Given the description of an element on the screen output the (x, y) to click on. 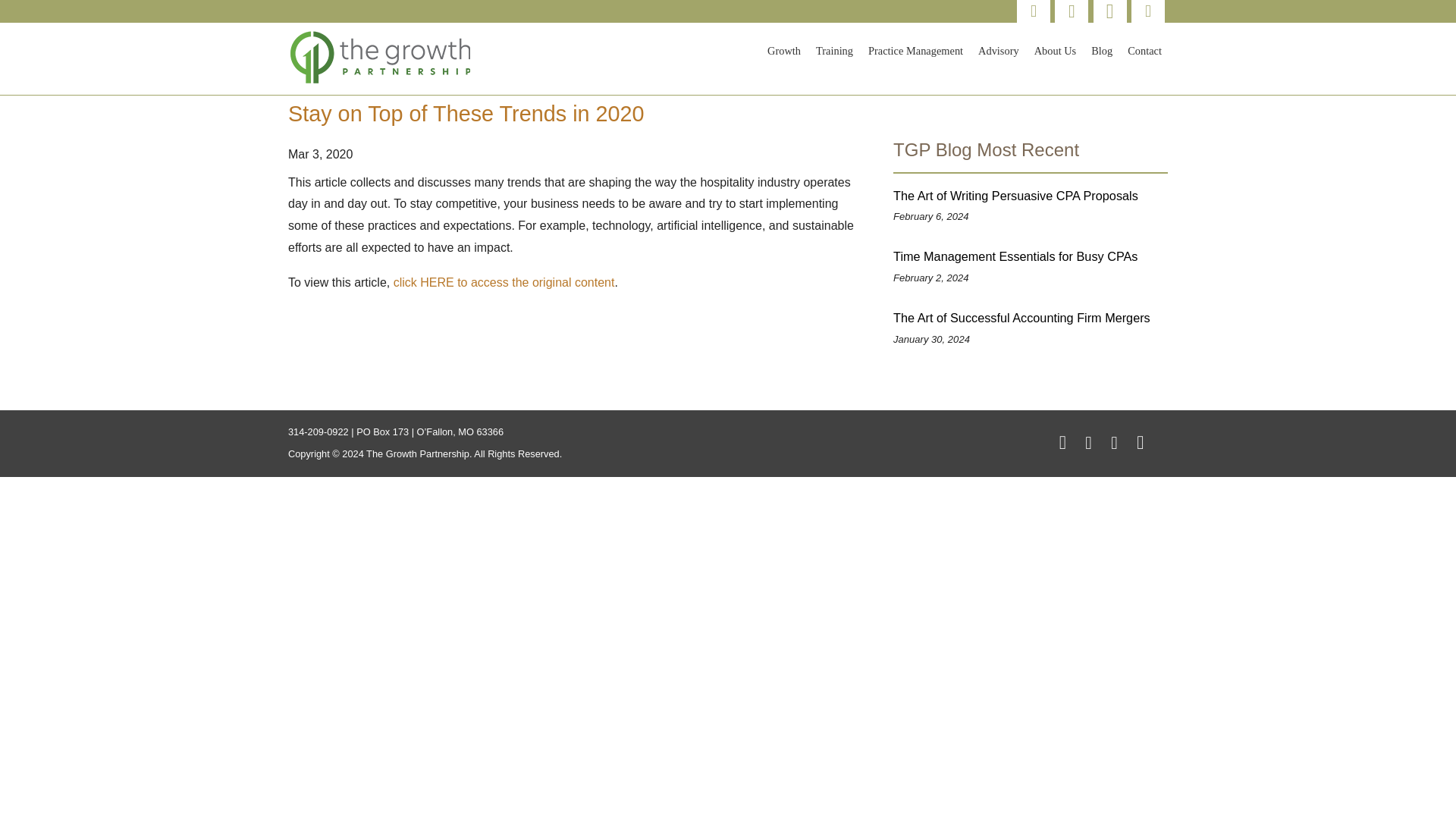
Advisory (998, 51)
Training (834, 51)
click HERE to access the original content (503, 282)
Time Management Essentials for Busy CPAs  (1030, 256)
The Art of Writing Persuasive CPA Proposals  (1030, 195)
Contact (1144, 51)
The Growth Partnership (382, 79)
Practice Management (915, 51)
The Growth Partnership (382, 56)
The Art of Successful Accounting Firm Mergers (1030, 317)
Growth (783, 51)
About Us (1055, 51)
